Given the description of an element on the screen output the (x, y) to click on. 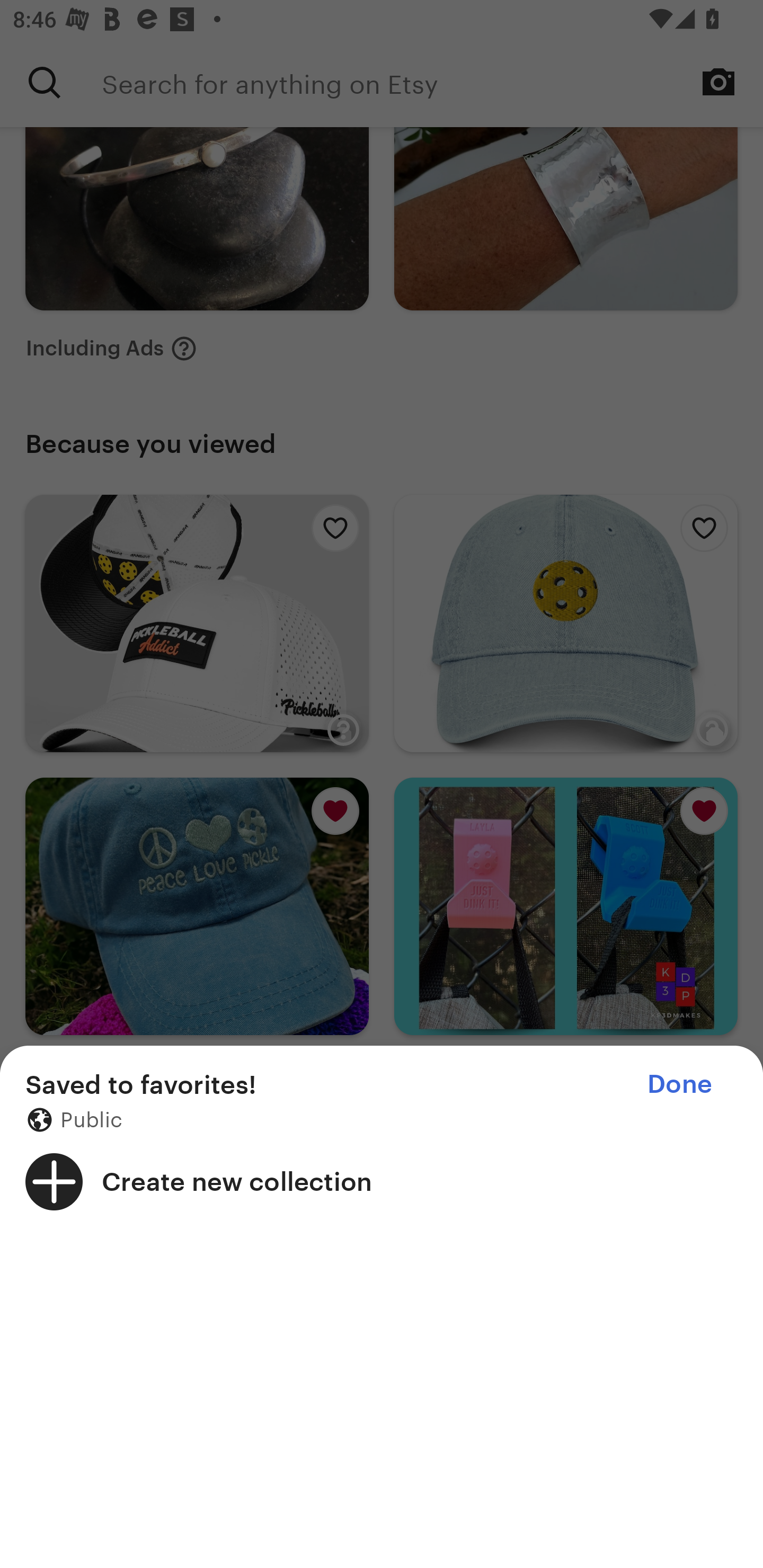
Done (679, 1083)
Create new collection (381, 1181)
